Given the description of an element on the screen output the (x, y) to click on. 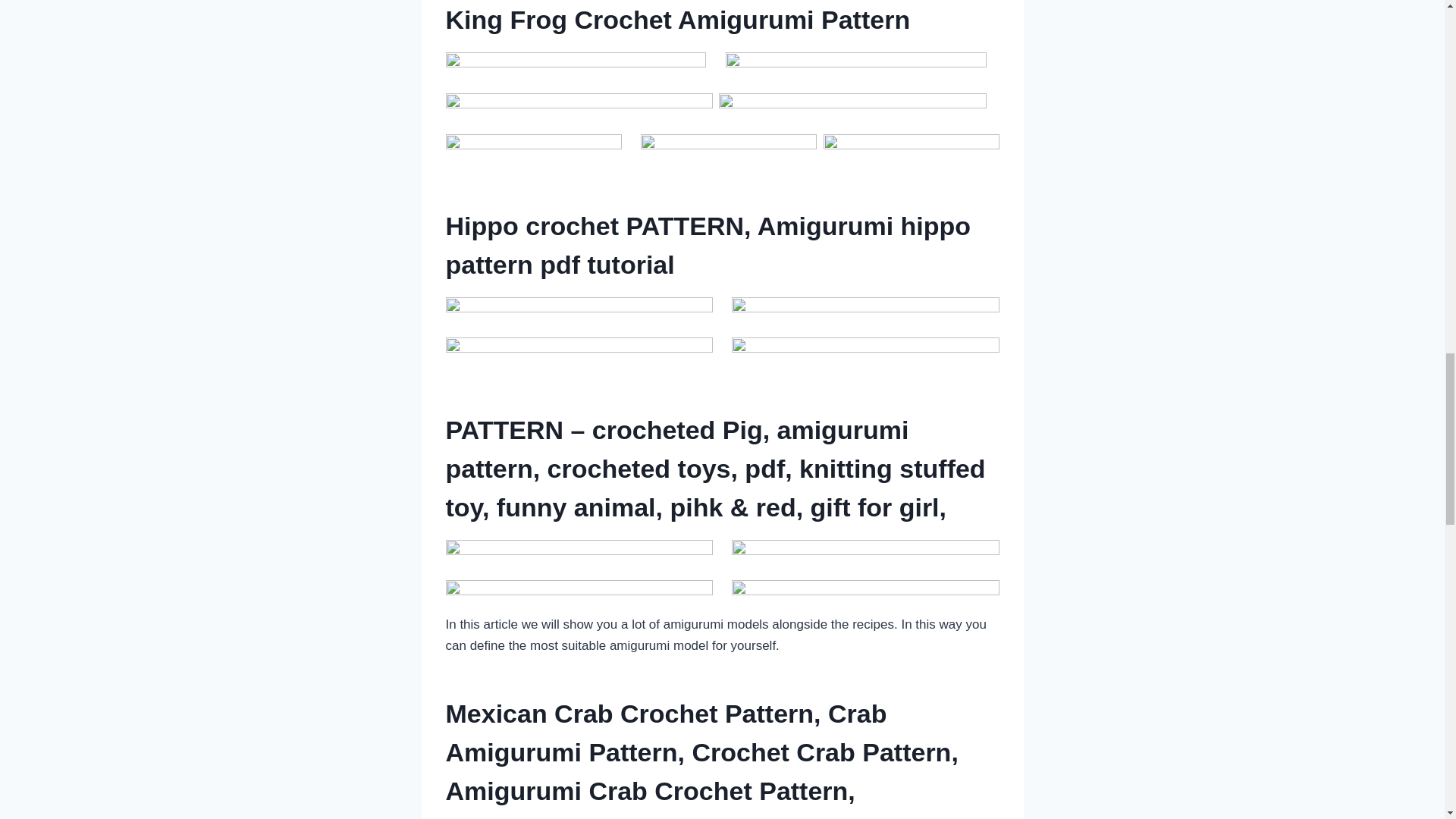
Hippo crochet PATTERN, Amigurumi hippo pattern pdf tutorial  (708, 245)
King Frog Crochet Amigurumi Pattern (678, 19)
